Given the description of an element on the screen output the (x, y) to click on. 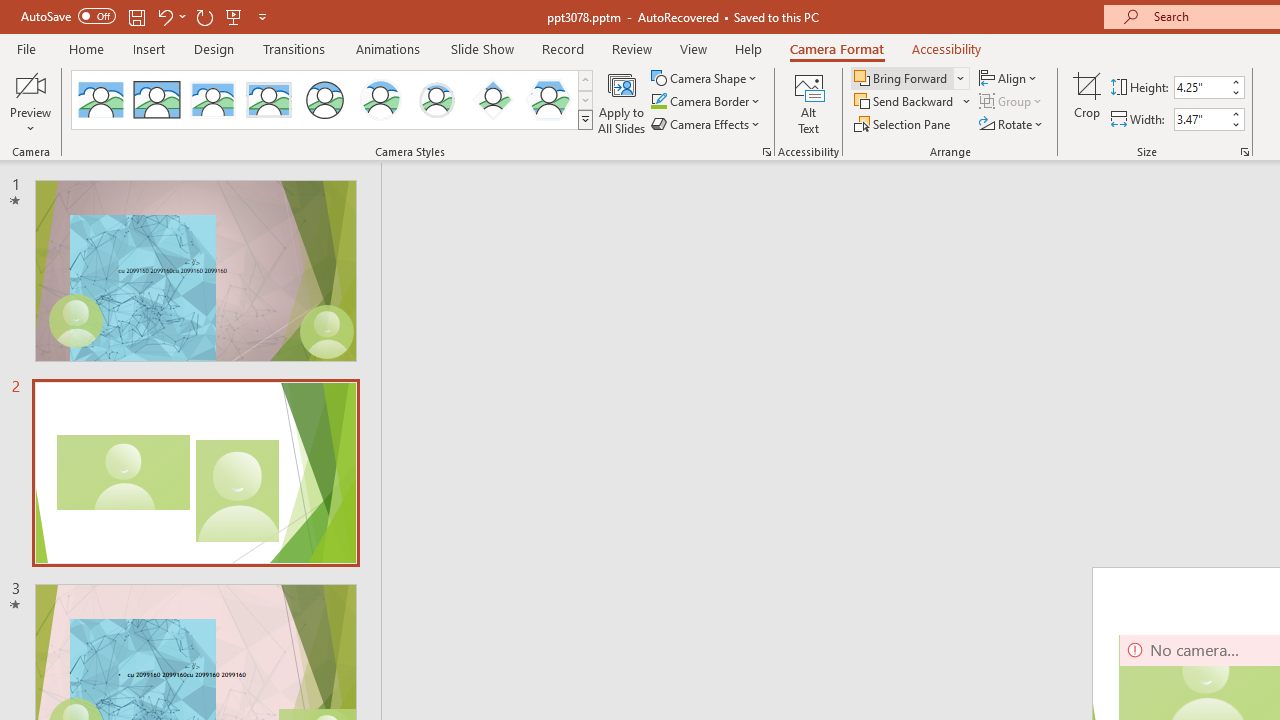
Camera Shape (705, 78)
Send Backward (913, 101)
Selection Pane... (904, 124)
Center Shadow Rectangle (212, 100)
Camera Styles (585, 120)
Camera Effects (706, 124)
Apply to All Slides (621, 102)
Soft Edge Circle (436, 100)
